Given the description of an element on the screen output the (x, y) to click on. 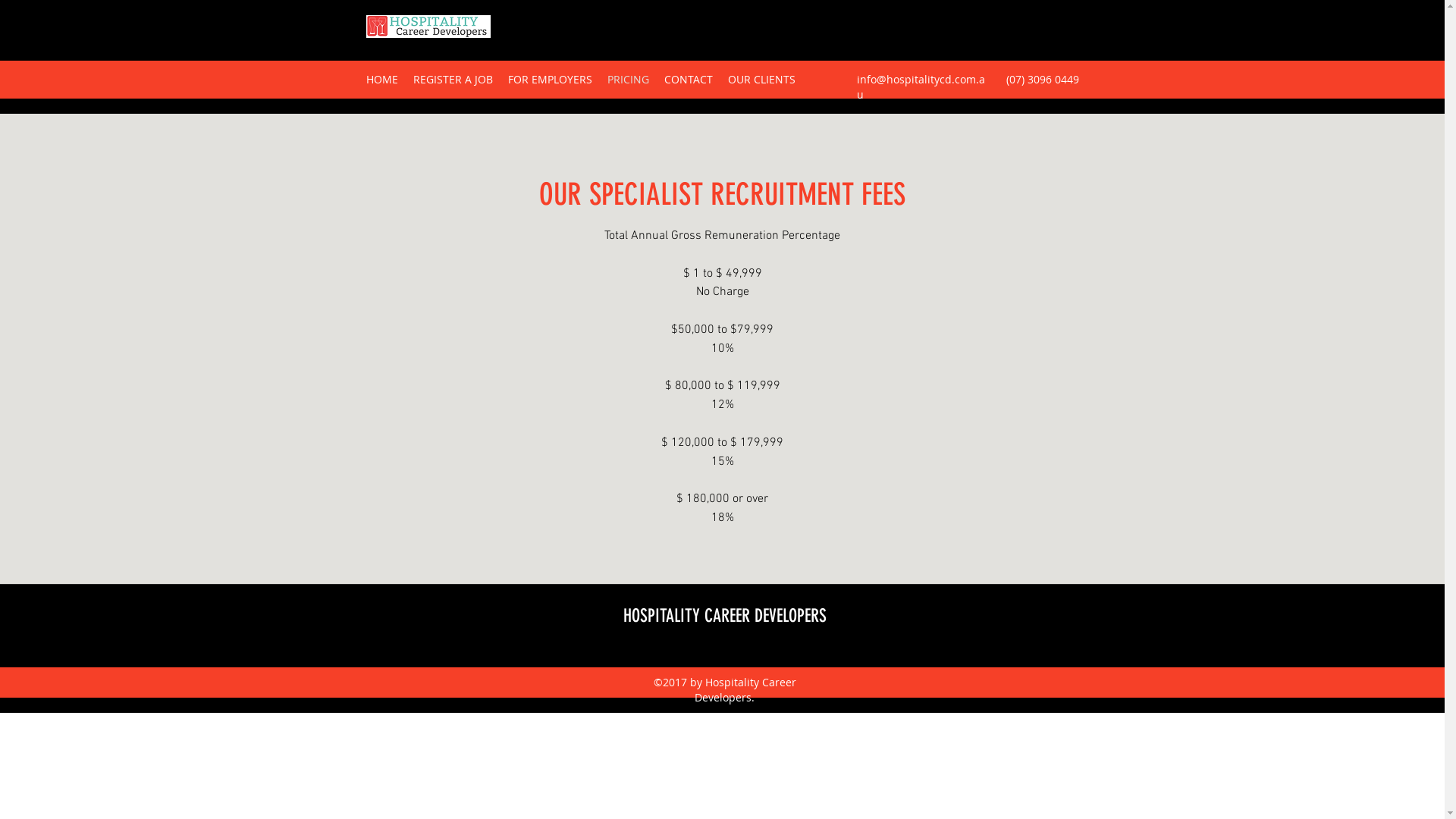
HOME Element type: text (380, 79)
FOR EMPLOYERS Element type: text (549, 79)
REGISTER A JOB Element type: text (451, 79)
CONTACT Element type: text (688, 79)
info@hospitalitycd.com.au Element type: text (920, 86)
OUR CLIENTS Element type: text (761, 79)
PRICING Element type: text (627, 79)
